Given the description of an element on the screen output the (x, y) to click on. 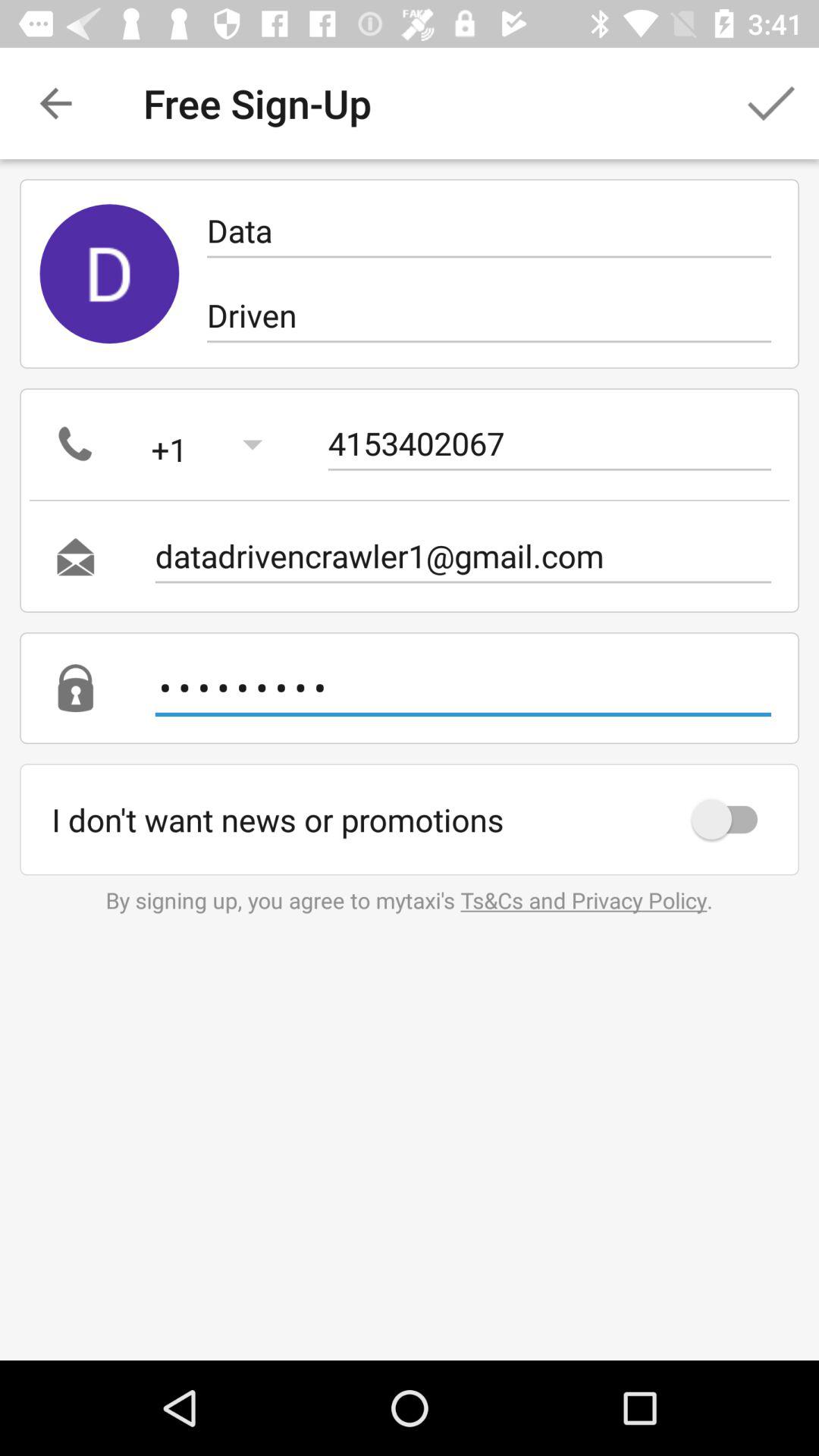
turn on icon next to data icon (109, 273)
